Given the description of an element on the screen output the (x, y) to click on. 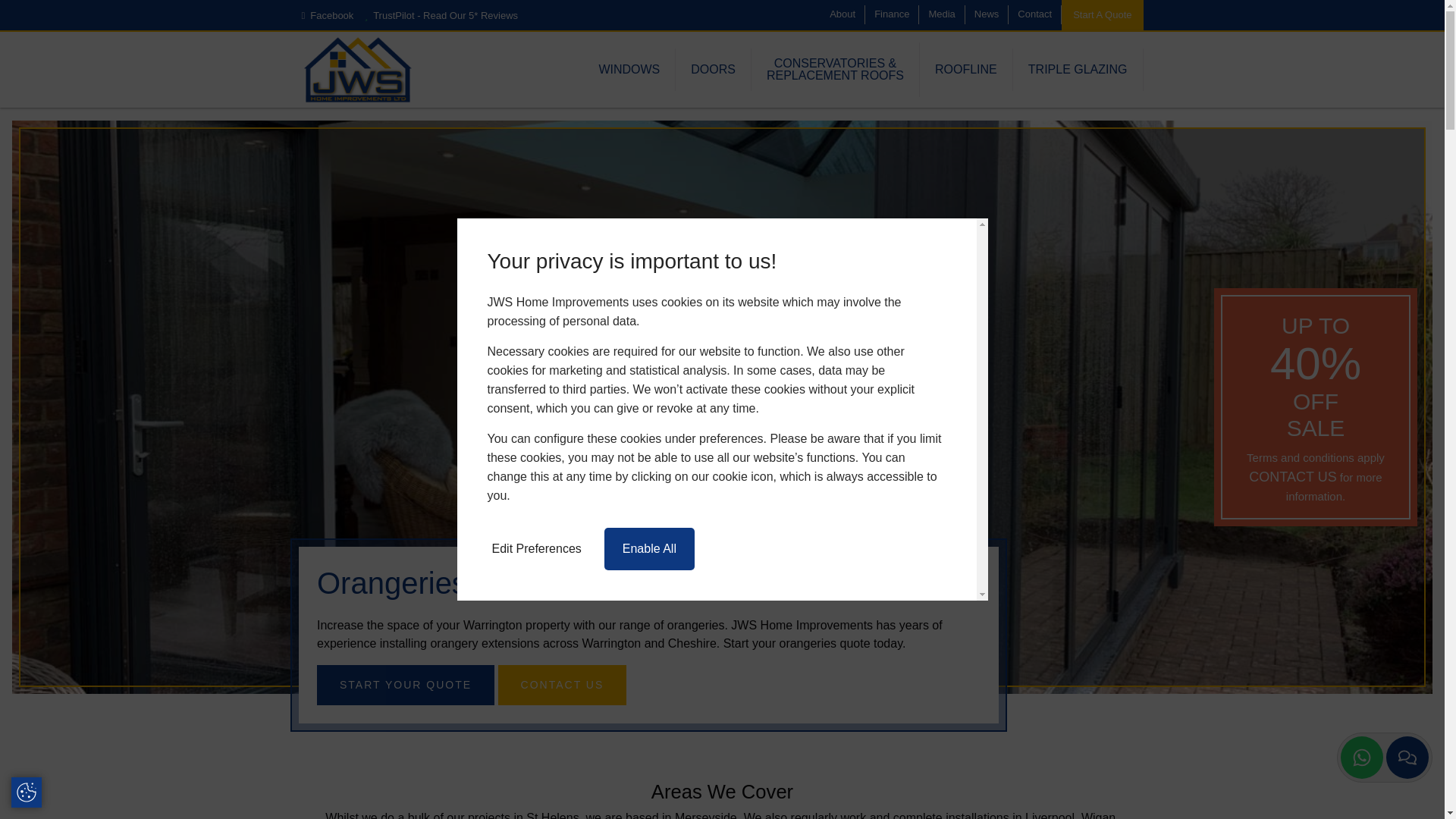
Start A Quote (1101, 15)
Edit Preferences (535, 548)
News (987, 14)
Enable All (649, 548)
Facebook (327, 15)
WINDOWS (629, 69)
Media (940, 14)
Finance (891, 14)
Contact (1035, 14)
About (842, 14)
